Given the description of an element on the screen output the (x, y) to click on. 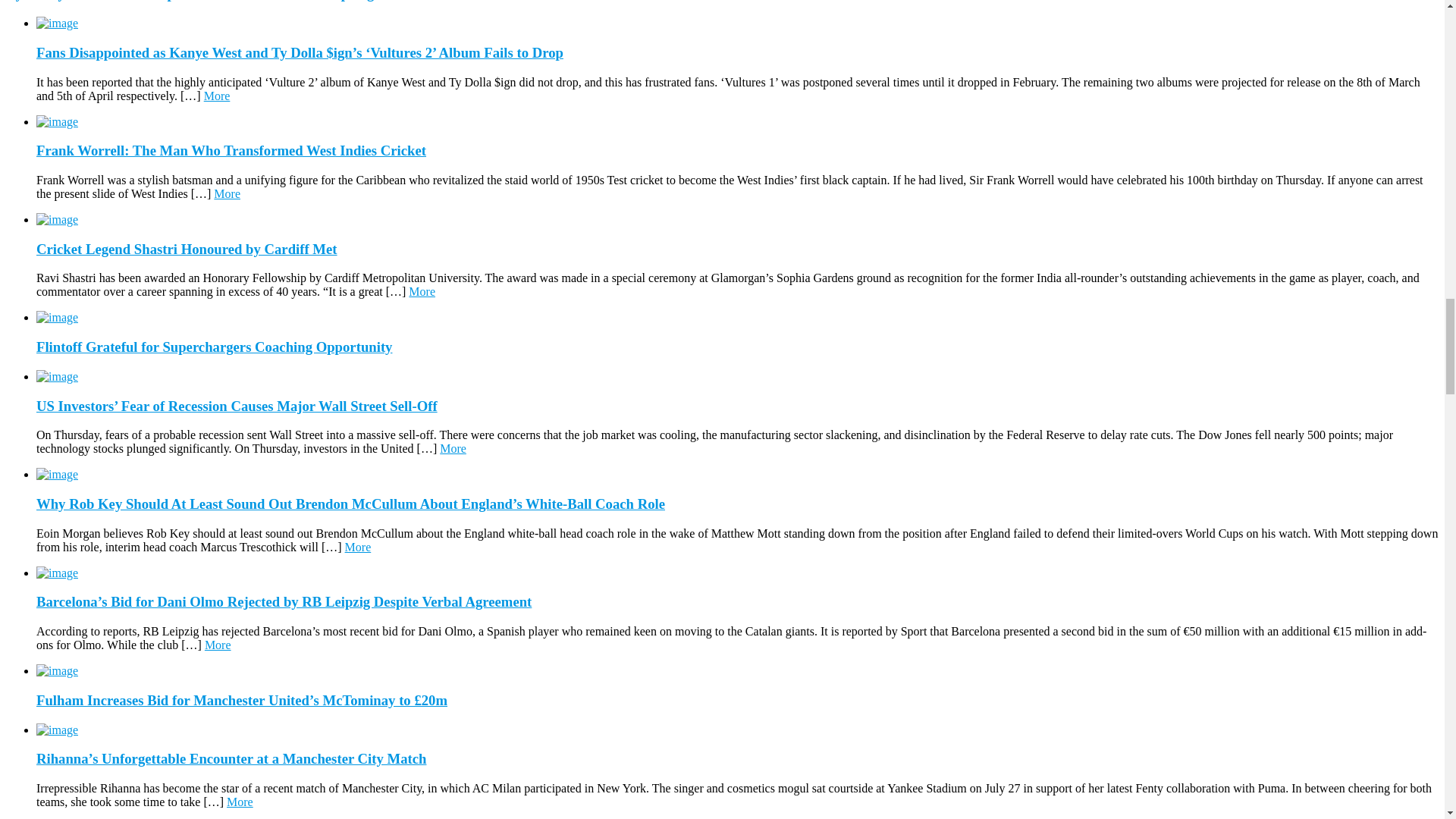
More (216, 95)
